Given the description of an element on the screen output the (x, y) to click on. 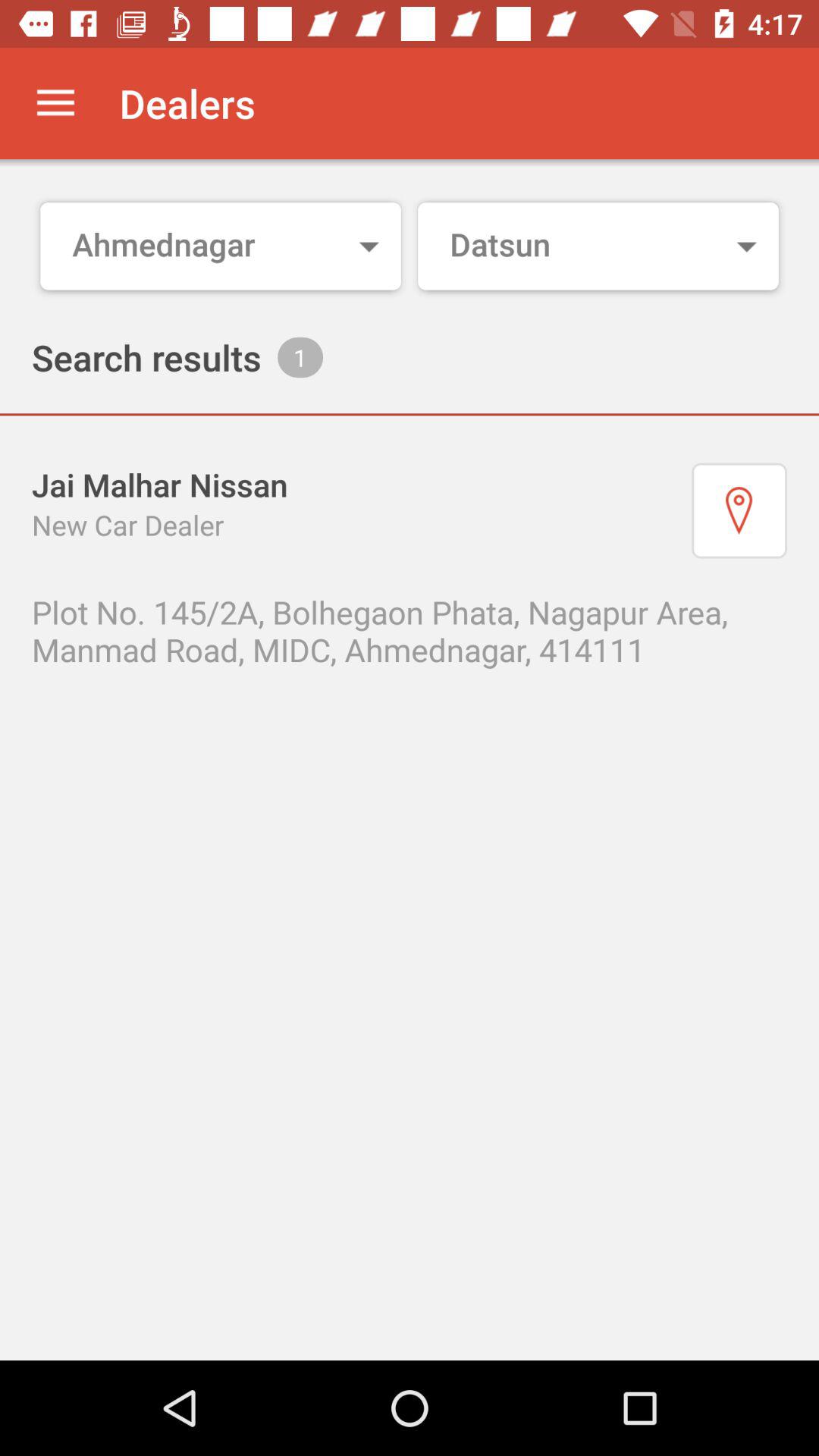
turn off item next to dealers icon (55, 103)
